Given the description of an element on the screen output the (x, y) to click on. 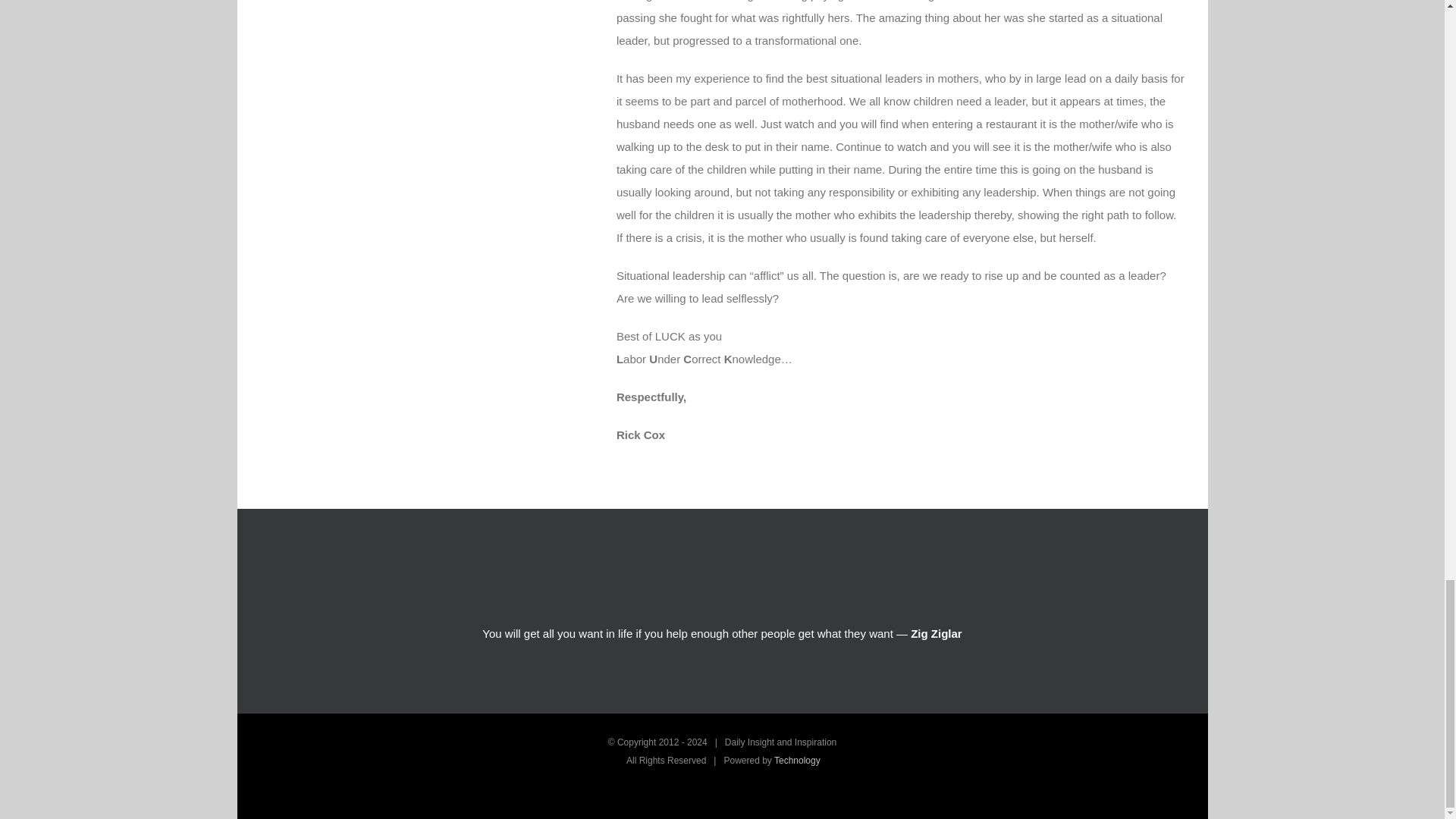
Technology (797, 760)
